Given the description of an element on the screen output the (x, y) to click on. 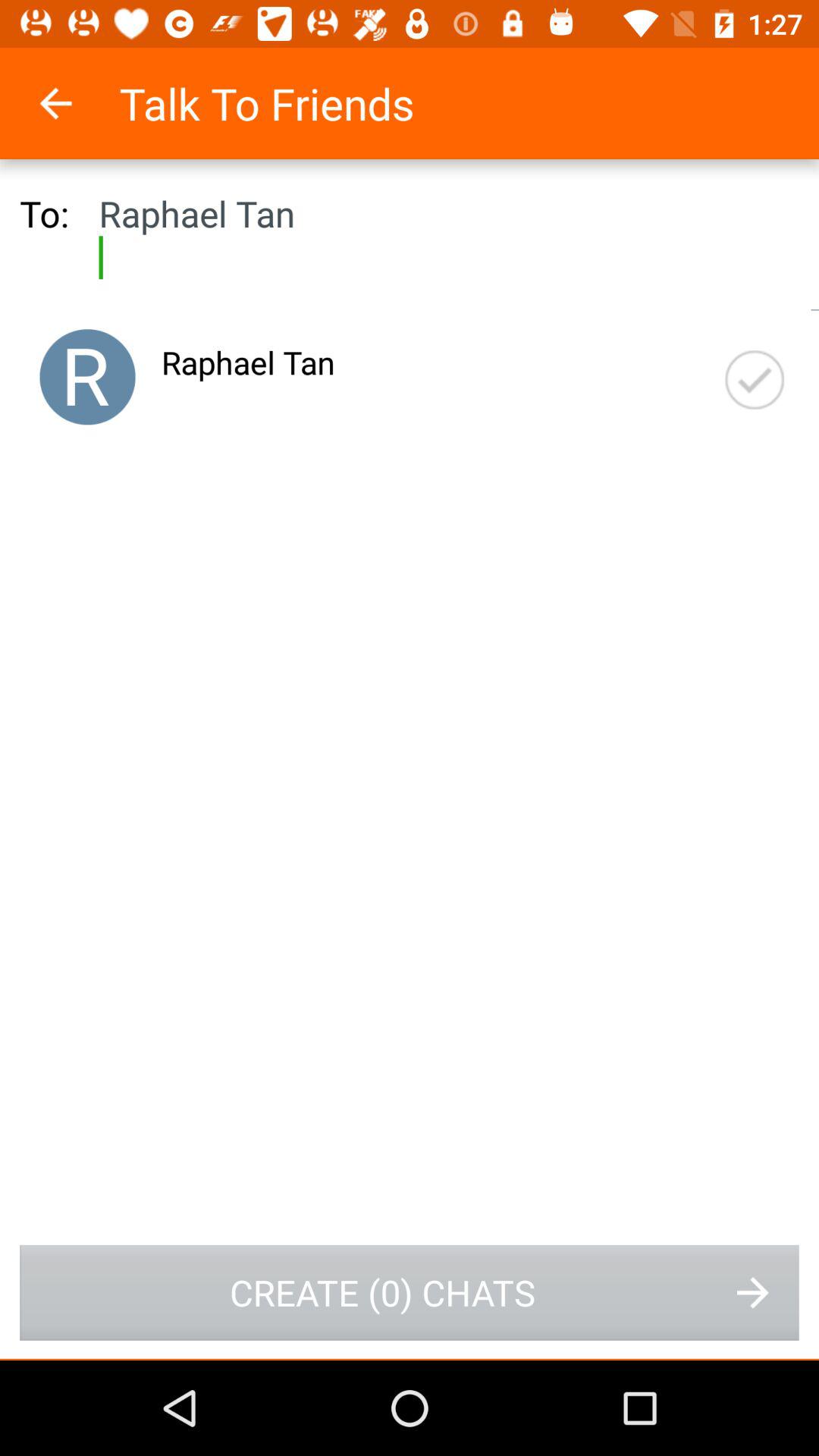
tap icon next to talk to friends (75, 103)
